Given the description of an element on the screen output the (x, y) to click on. 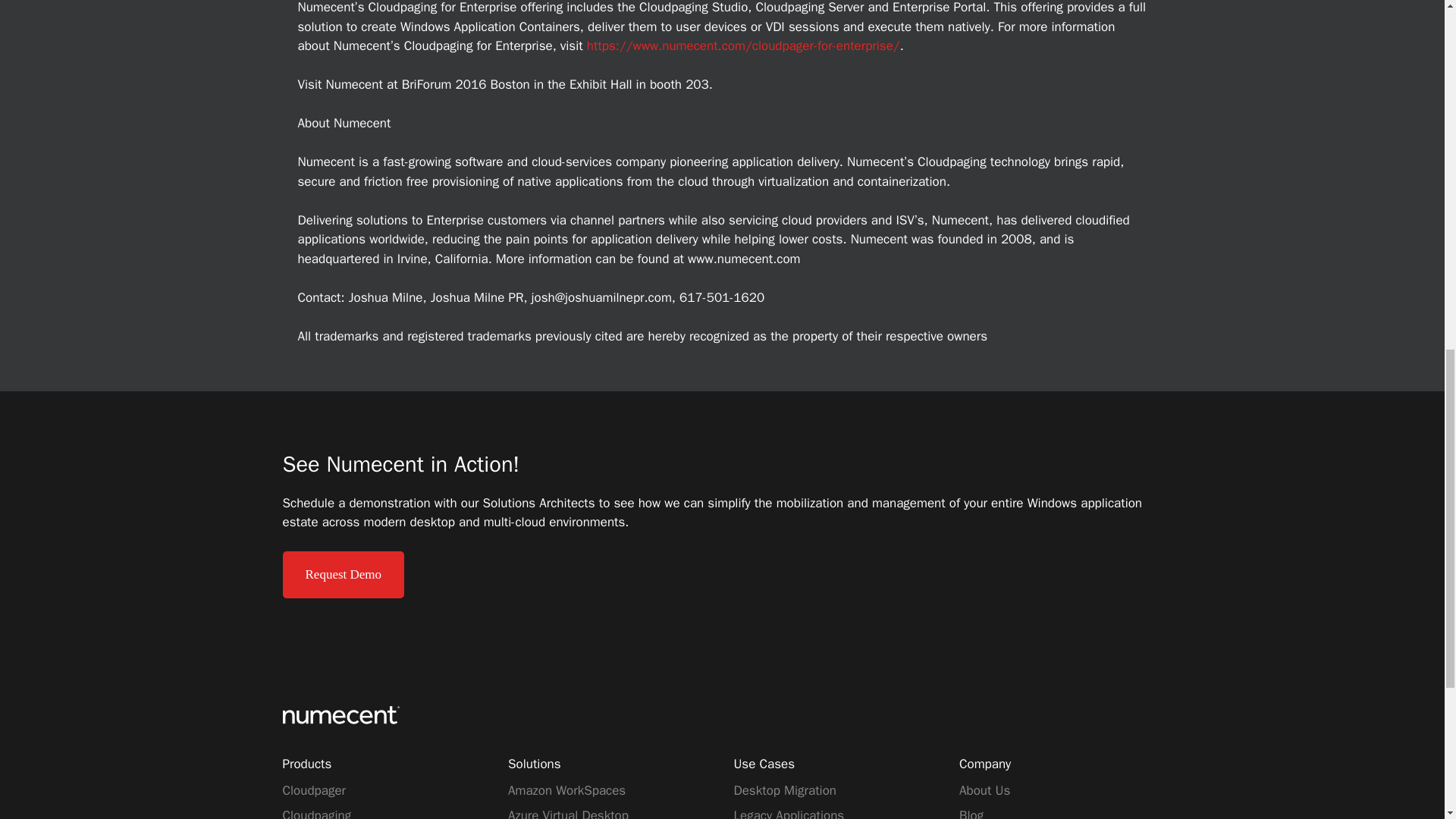
Scroll back to top (1406, 720)
